Given the description of an element on the screen output the (x, y) to click on. 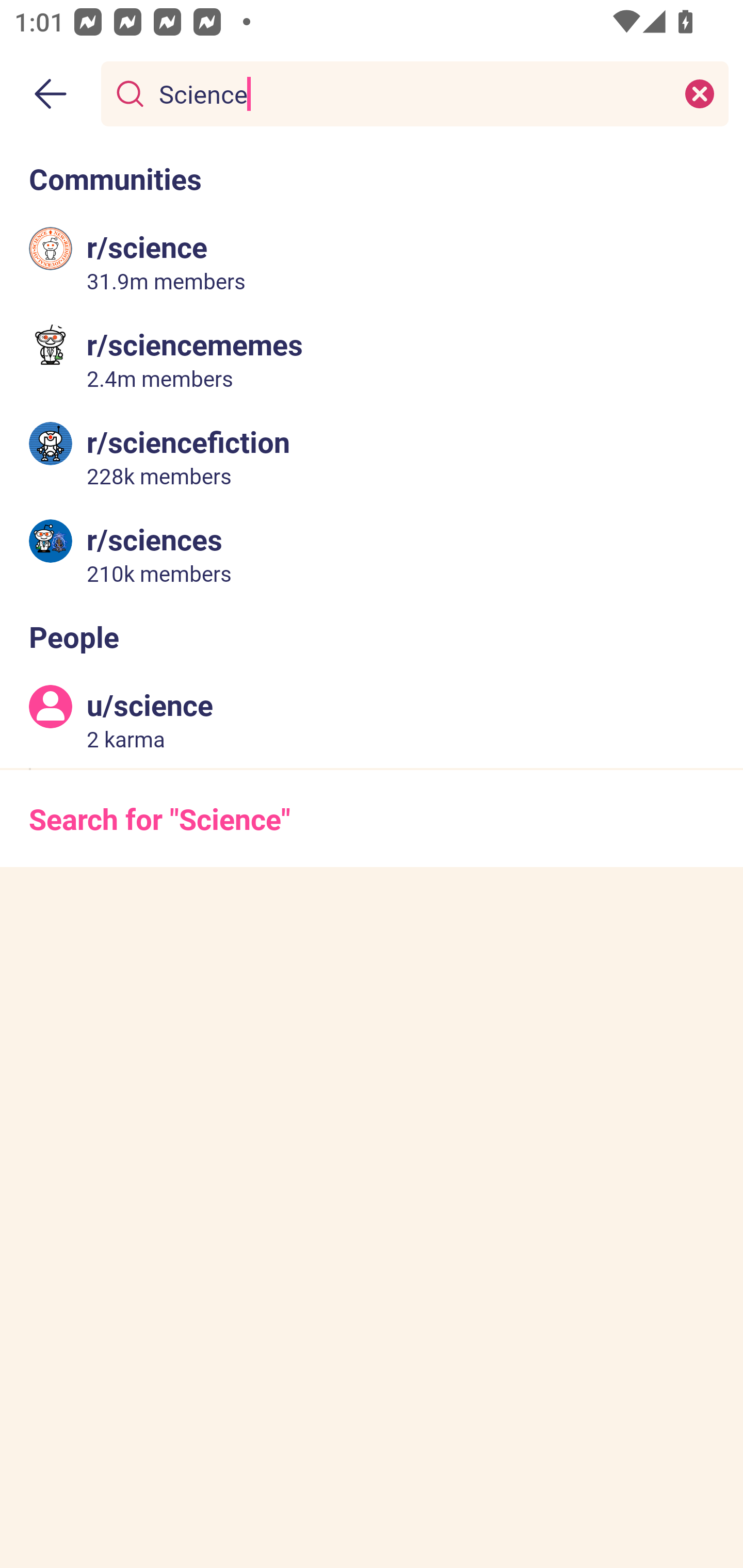
Back (50, 93)
Science (410, 93)
Clear search (699, 93)
r/science 31.9m members 31.9 million members (371, 261)
r/sciencememes 2.4m members 2.4 million members (371, 358)
r/sciencefiction 228k members 228 thousand members (371, 455)
r/sciences 210k members 210 thousand members (371, 553)
u/science 2 karma 2 karma (371, 719)
Search for "Science" (371, 818)
